Given the description of an element on the screen output the (x, y) to click on. 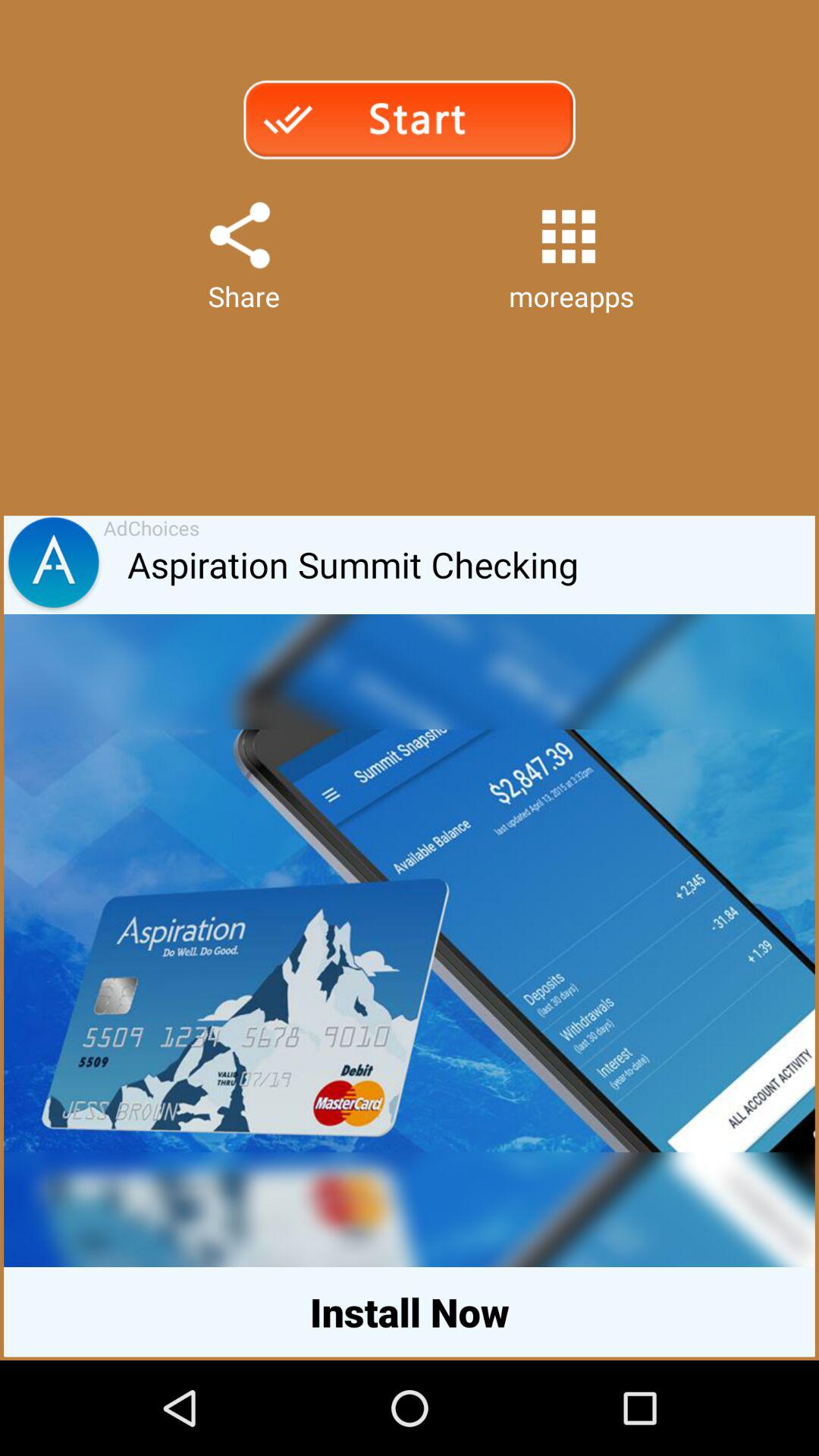
choose app above moreapps (568, 236)
